Given the description of an element on the screen output the (x, y) to click on. 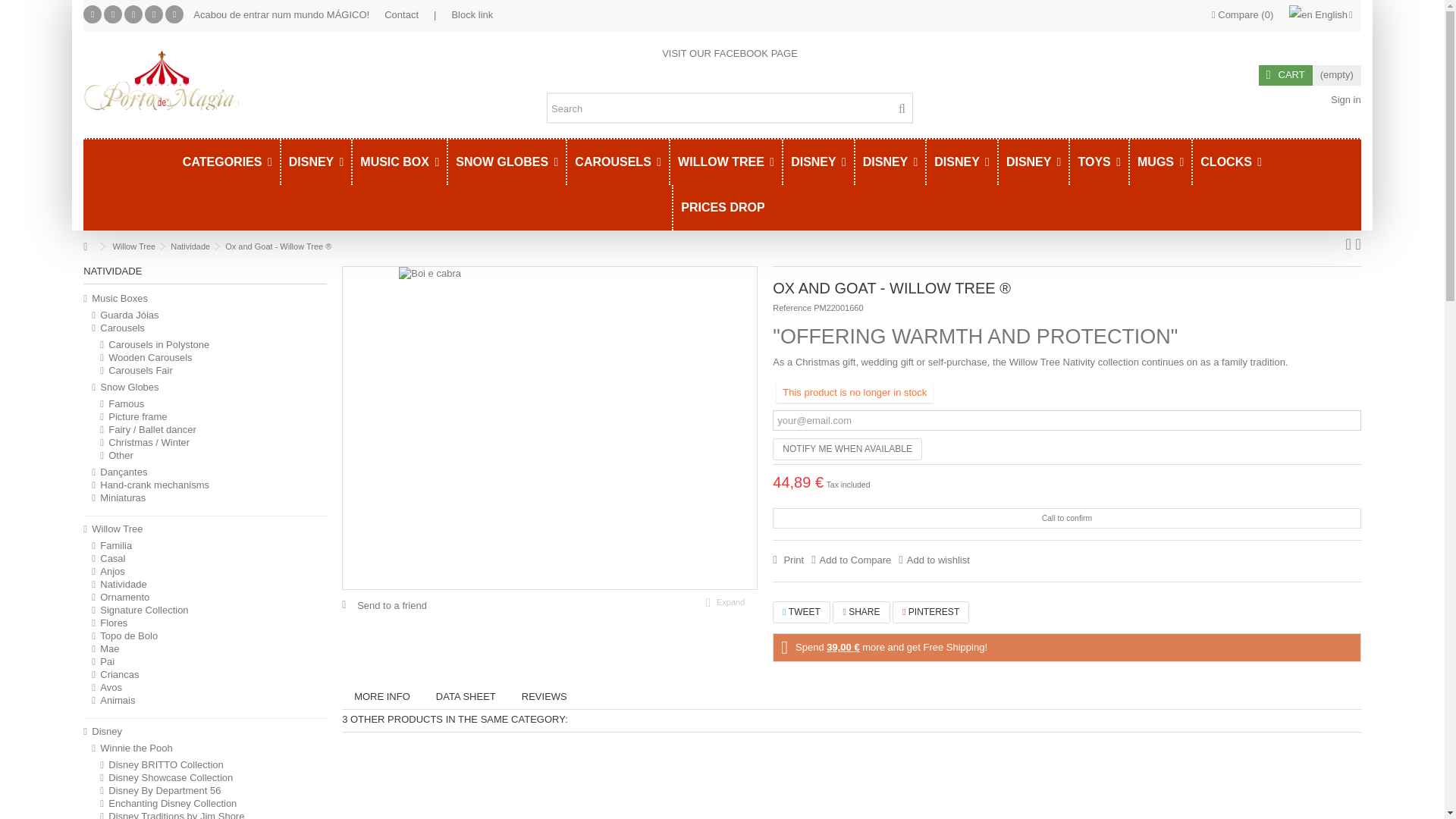
VISIT OUR FACEBOOK PAGE (729, 52)
Facebook (91, 13)
Sign in (1343, 99)
Contact (401, 14)
Login to your customer account (1343, 99)
RSS (174, 13)
Twitter (112, 13)
View my shopping cart (1310, 75)
Youtube (132, 13)
Contact (401, 14)
